Given the description of an element on the screen output the (x, y) to click on. 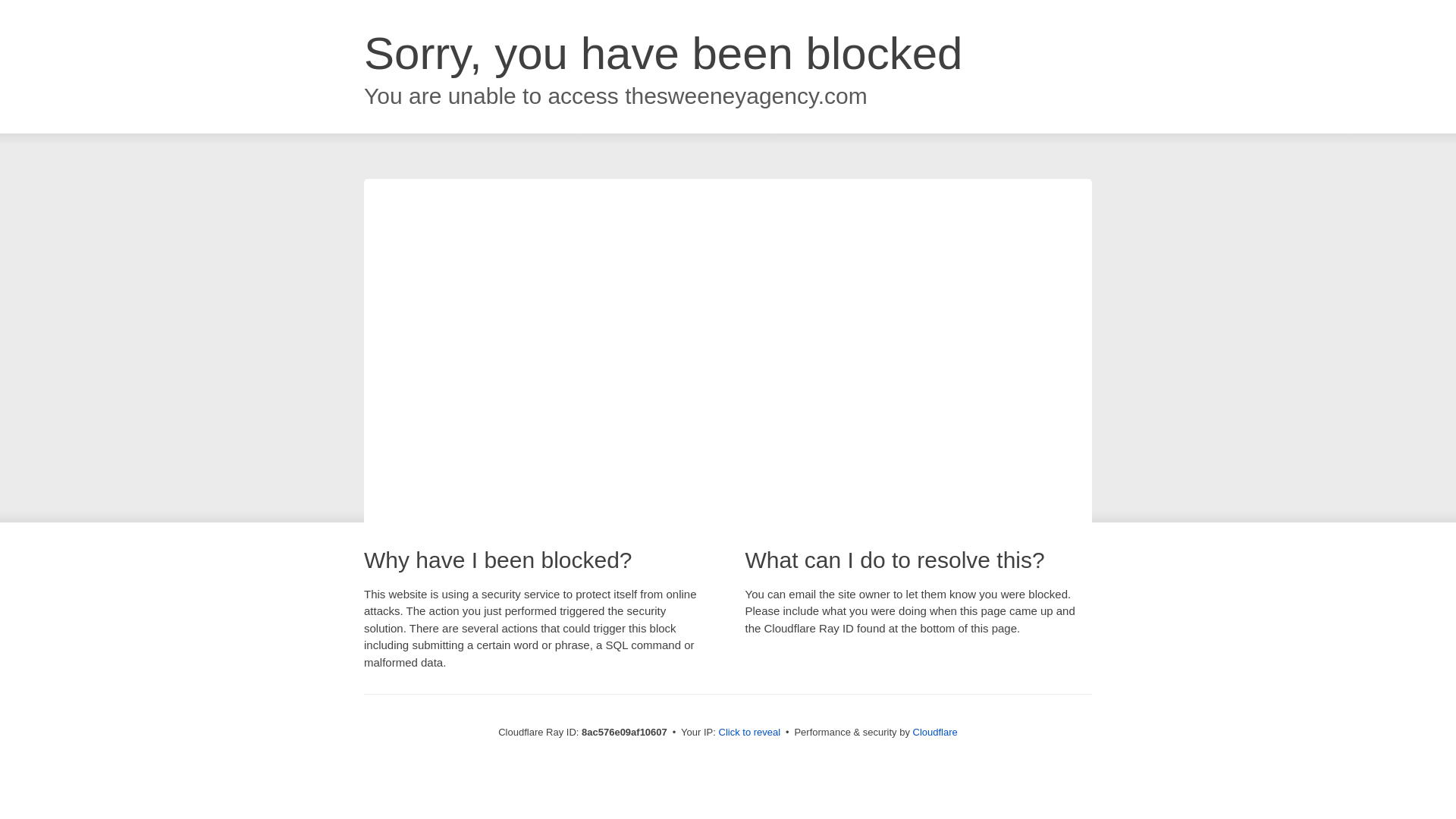
Click to reveal (749, 732)
Cloudflare (935, 731)
